Given the description of an element on the screen output the (x, y) to click on. 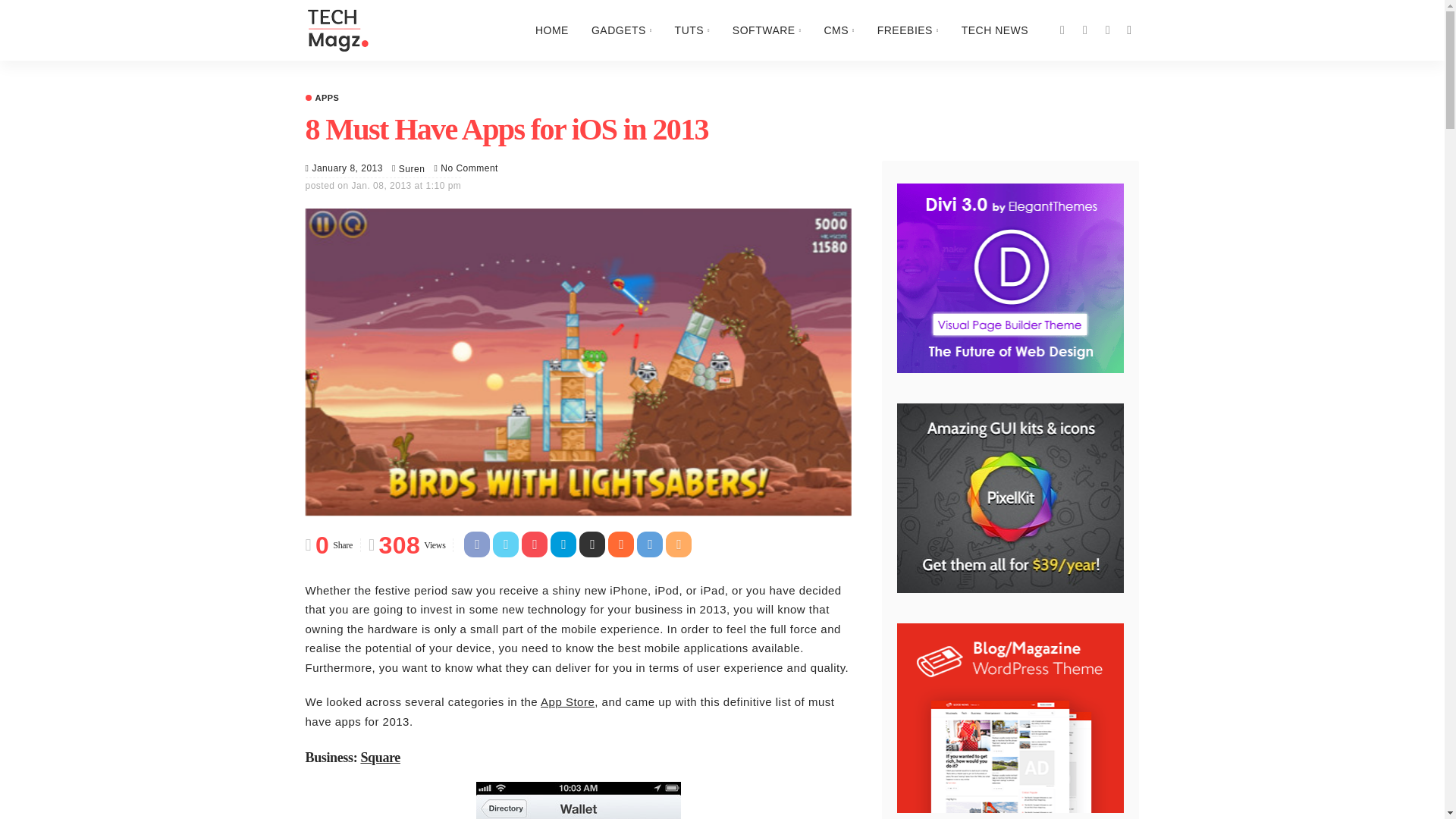
TechMagz (336, 30)
8 Must Have Apps for iOS in 2013 (469, 168)
Apps (321, 98)
Square (379, 757)
TUTS (691, 30)
GADGETS (621, 30)
HOME (551, 30)
App Store (567, 701)
